Given the description of an element on the screen output the (x, y) to click on. 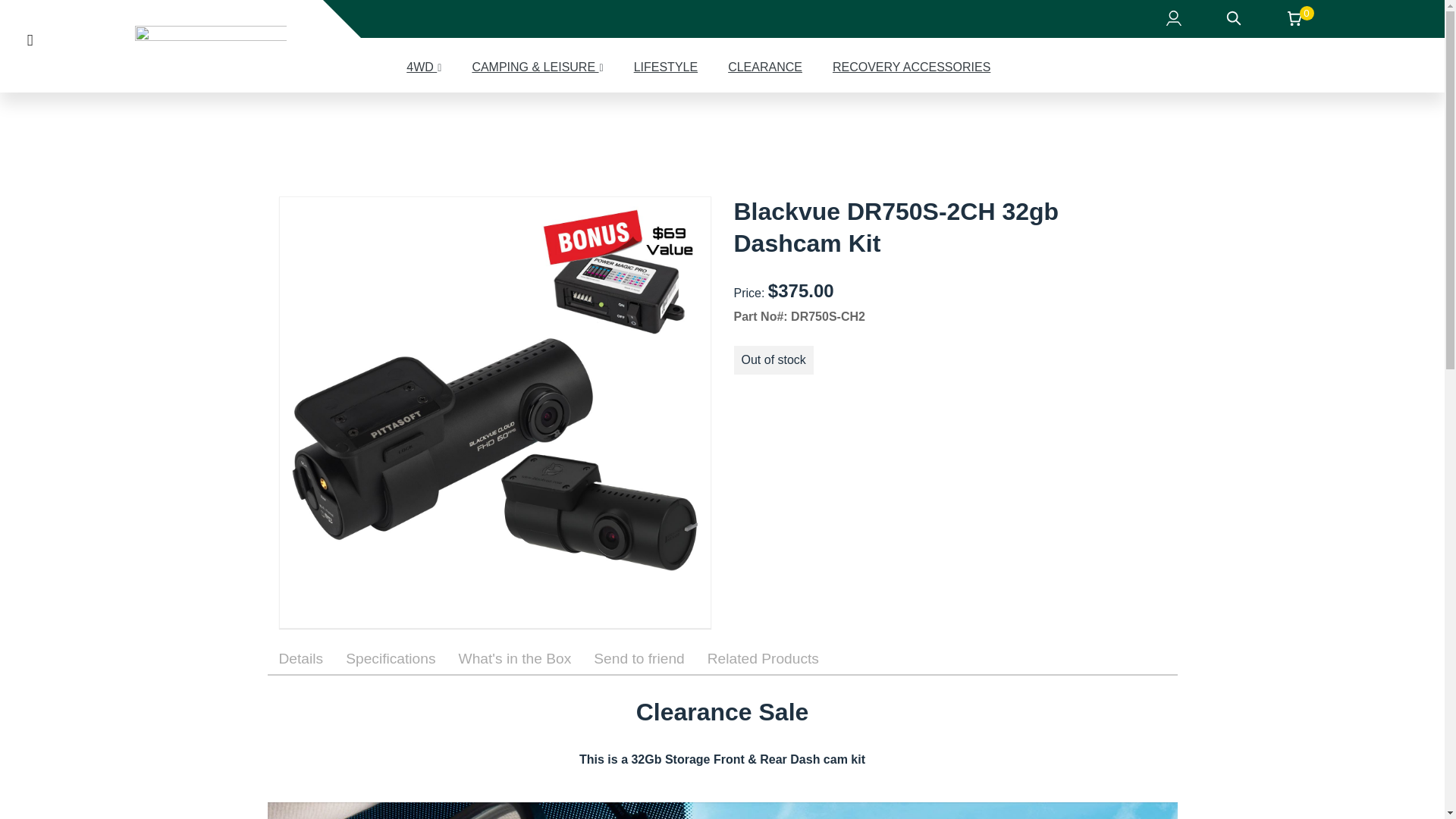
4WD (423, 66)
CLEARANCE (765, 66)
ELECTRICAL (105, 132)
4WD (42, 132)
4WD (42, 132)
ELECTRICAL (105, 132)
RECOVERY ACCESSORIES (911, 66)
LIFESTYLE (665, 66)
